Given the description of an element on the screen output the (x, y) to click on. 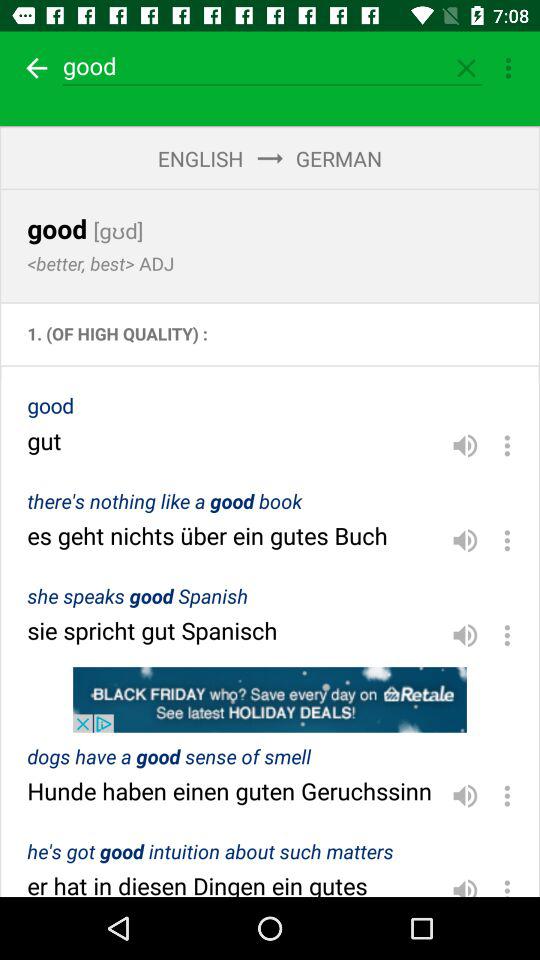
more information on this phrase (507, 883)
